Given the description of an element on the screen output the (x, y) to click on. 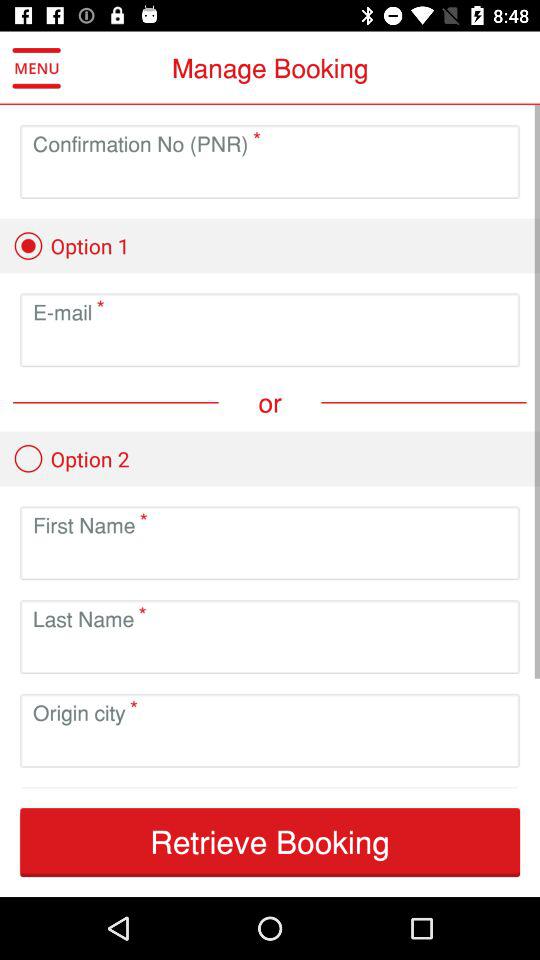
jump to the option 1 item (71, 245)
